Given the description of an element on the screen output the (x, y) to click on. 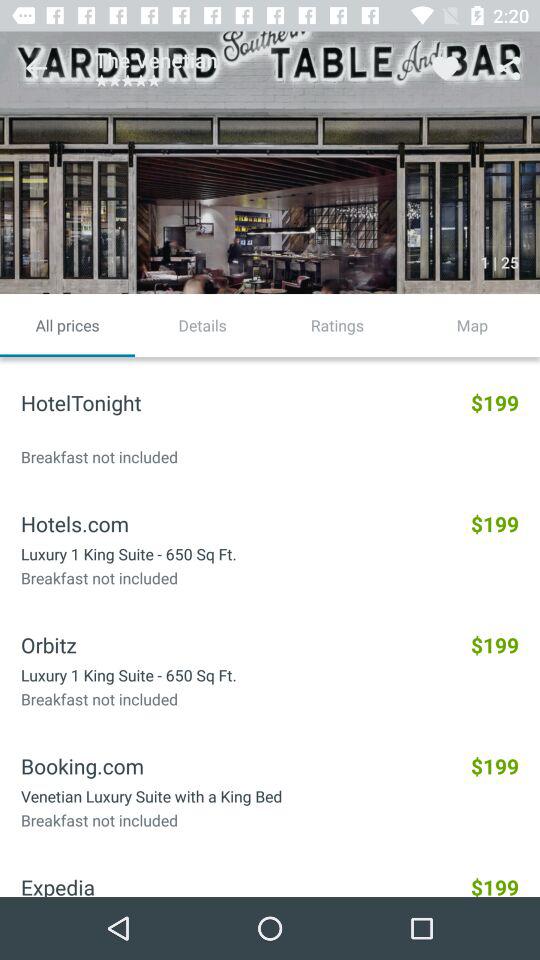
scroll to details (202, 325)
